Given the description of an element on the screen output the (x, y) to click on. 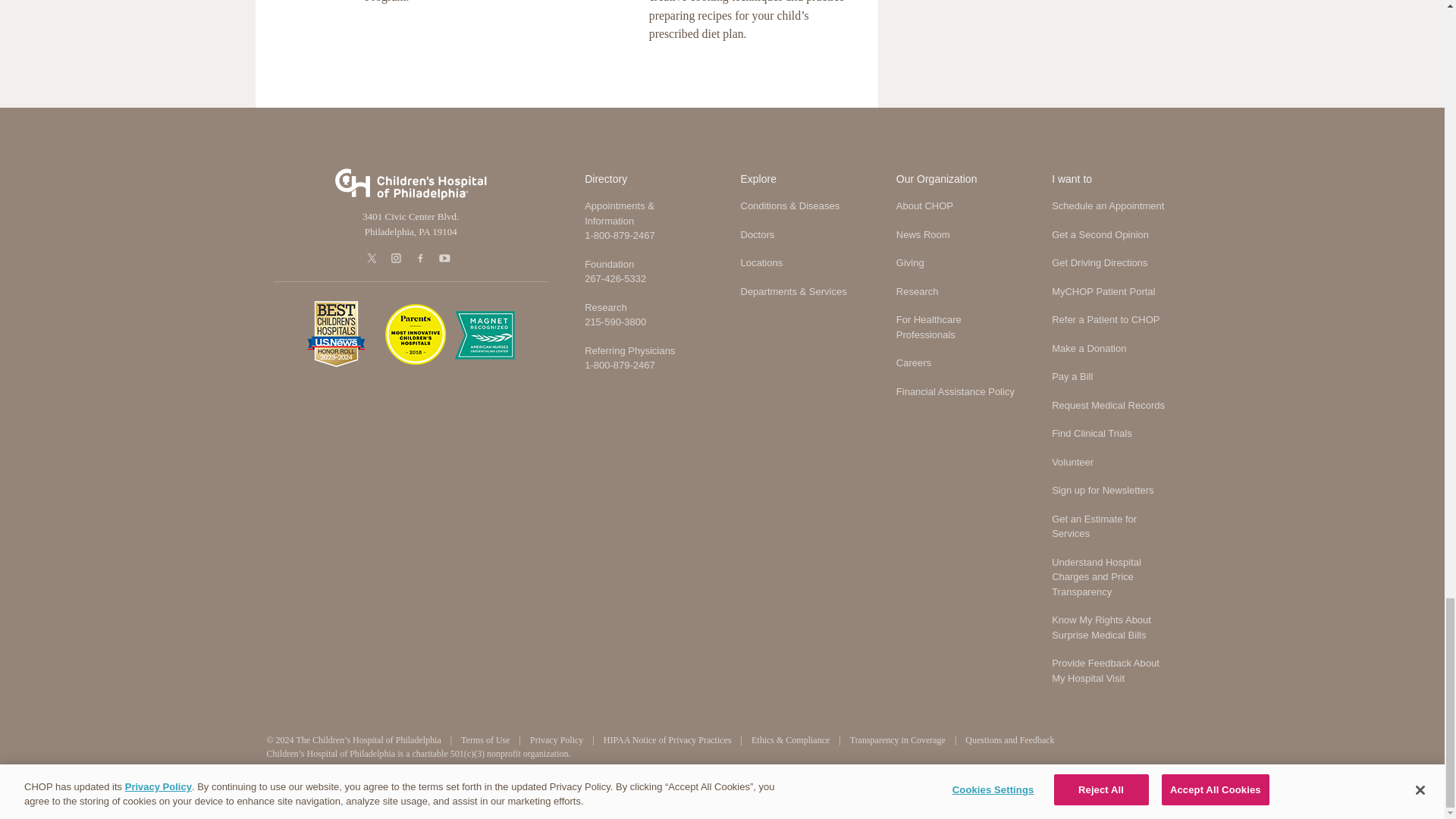
X (373, 257)
